Given the description of an element on the screen output the (x, y) to click on. 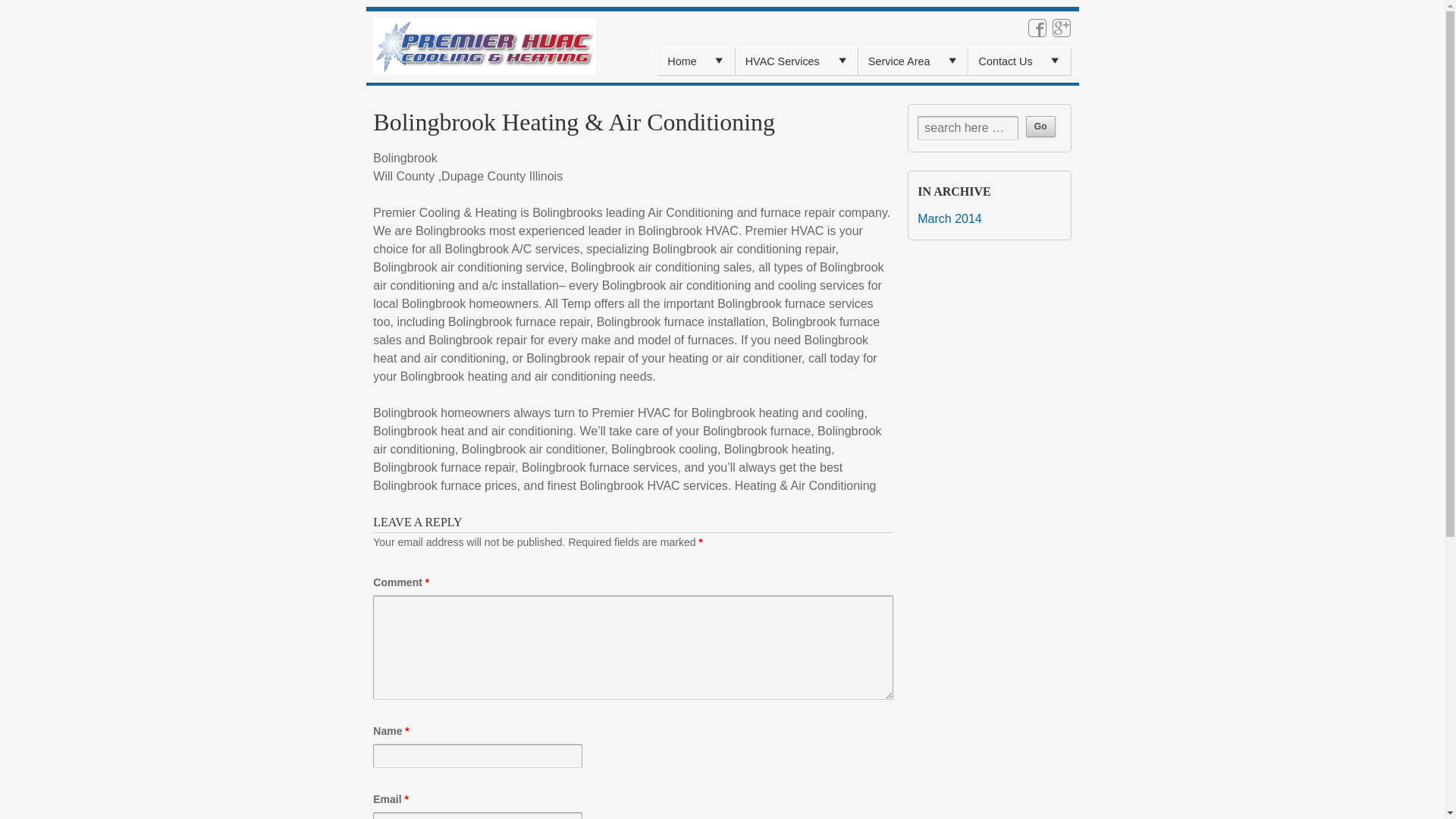
Service Area (913, 61)
HVAC Services (796, 61)
Go (1040, 126)
Home (695, 61)
